Given the description of an element on the screen output the (x, y) to click on. 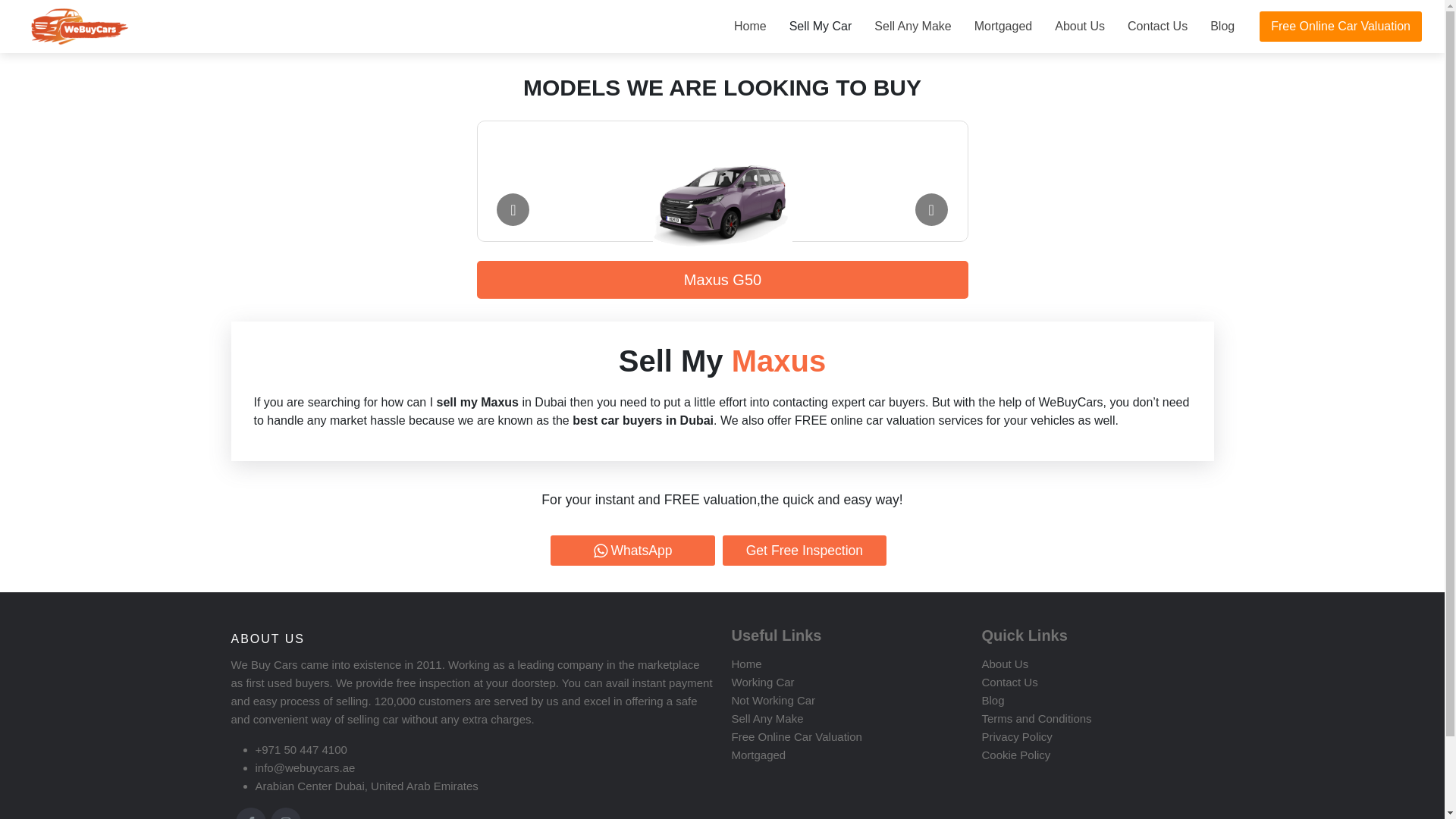
Home (745, 663)
About Us (1079, 26)
Terms and Conditions (1035, 717)
Blog (1222, 26)
Privacy Policy (1016, 736)
Arabian Center Dubai, United Arab Emirates (365, 785)
Contact Us (1157, 26)
Get Free Inspection (804, 550)
Not Working Car (772, 699)
Free Online Car Valuation (795, 736)
